Given the description of an element on the screen output the (x, y) to click on. 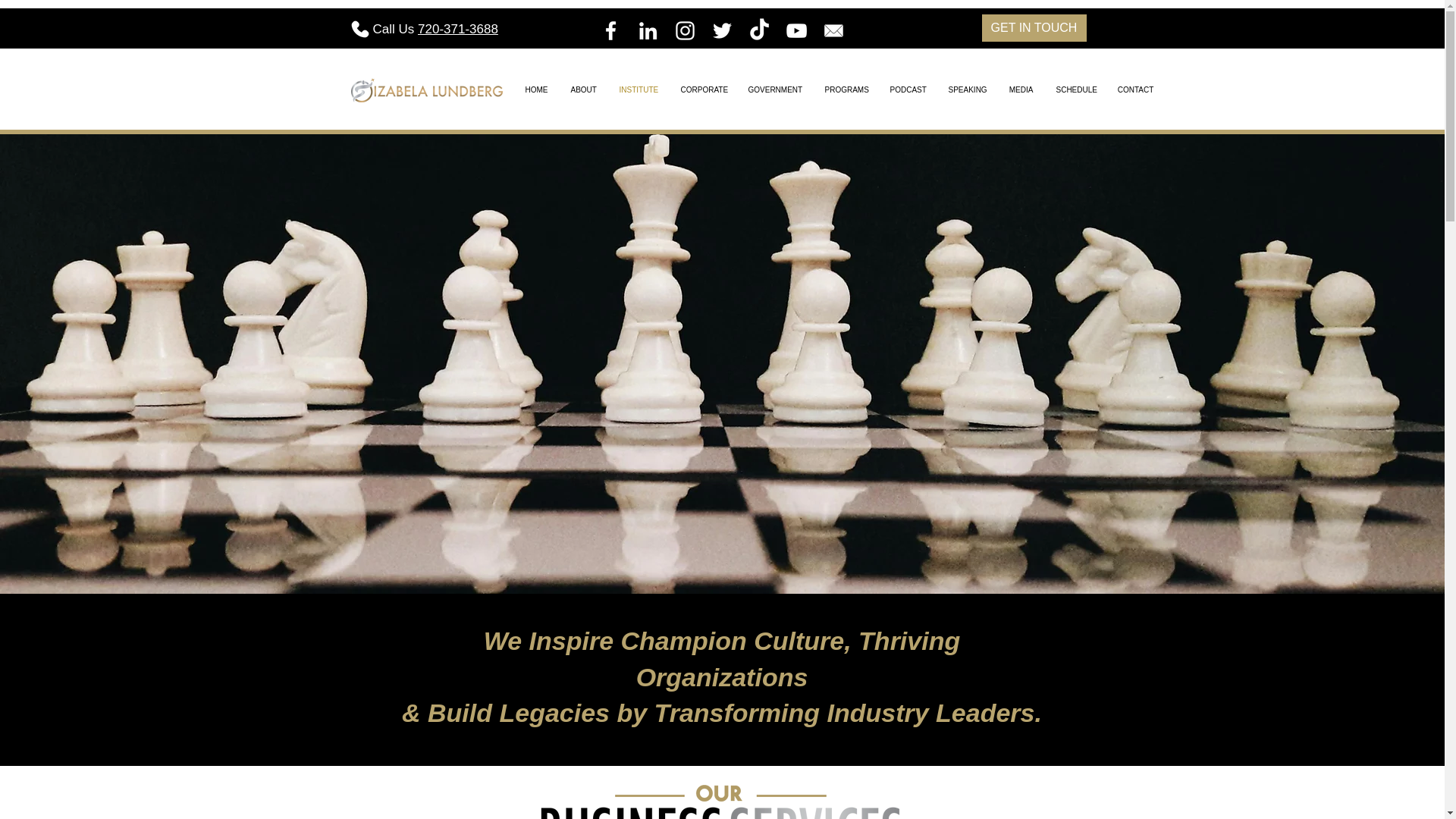
INSTITUTE (638, 89)
GOVERNMENT (774, 89)
CORPORATE (702, 89)
ABOUT (583, 89)
HOME (536, 89)
Call Us 720-371-3688 (434, 29)
GET IN TOUCH (1033, 28)
PROGRAMS (844, 89)
